Given the description of an element on the screen output the (x, y) to click on. 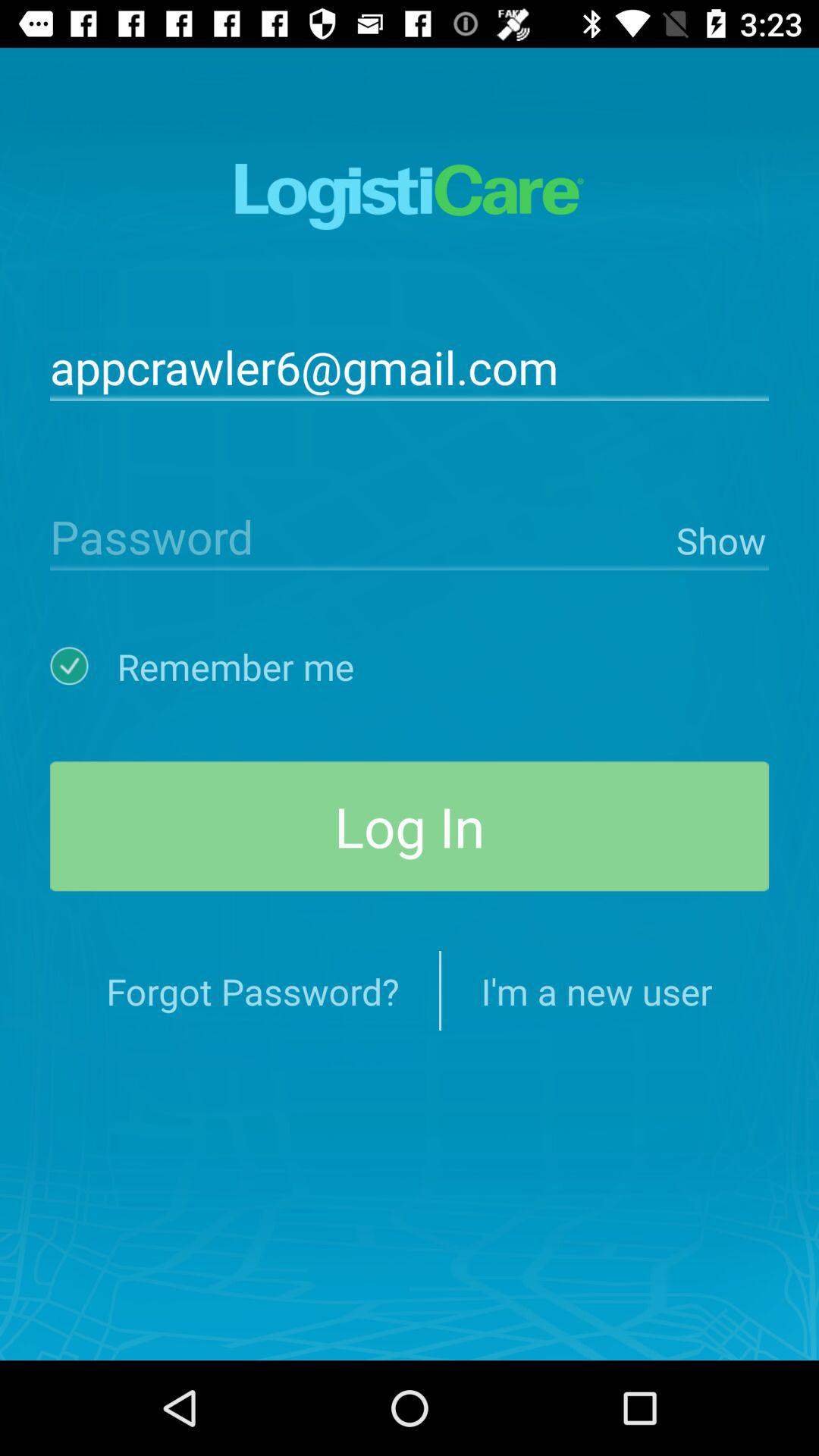
select icon below the appcrawler6@gmail.com item (718, 536)
